Given the description of an element on the screen output the (x, y) to click on. 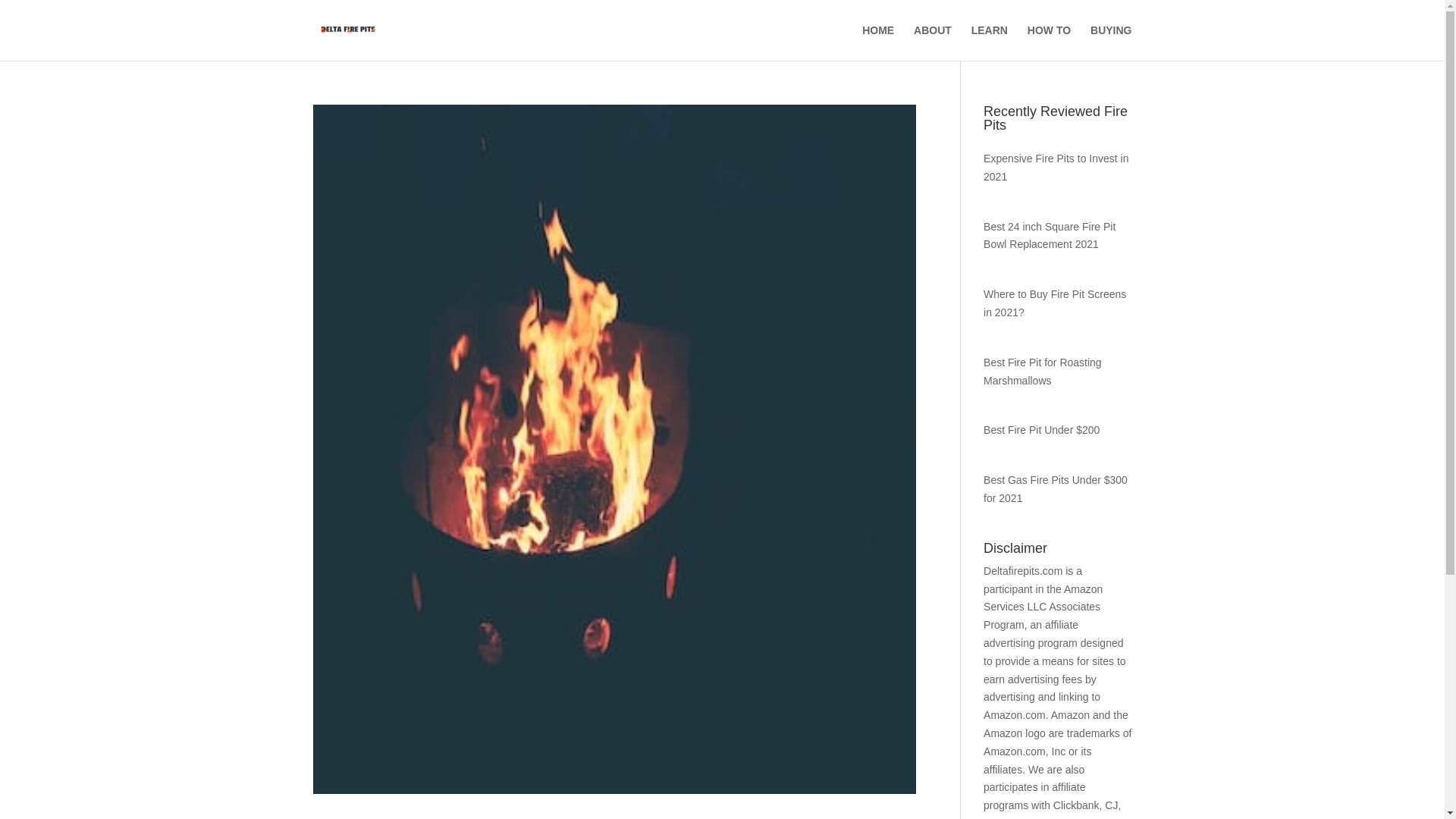
LEARN (989, 42)
Best 24 inch Square Fire Pit Bowl Replacement 2021 (1049, 235)
Best Fire Pit for Roasting Marshmallows (1043, 371)
Where to Buy Fire Pit Screens in 2021? (1054, 303)
ABOUT (933, 42)
HOME (877, 42)
Breeo x Series Fire Pit Review (446, 816)
Expensive Fire Pits to Invest in 2021 (1056, 167)
HOW TO (1048, 42)
BUYING (1110, 42)
